Given the description of an element on the screen output the (x, y) to click on. 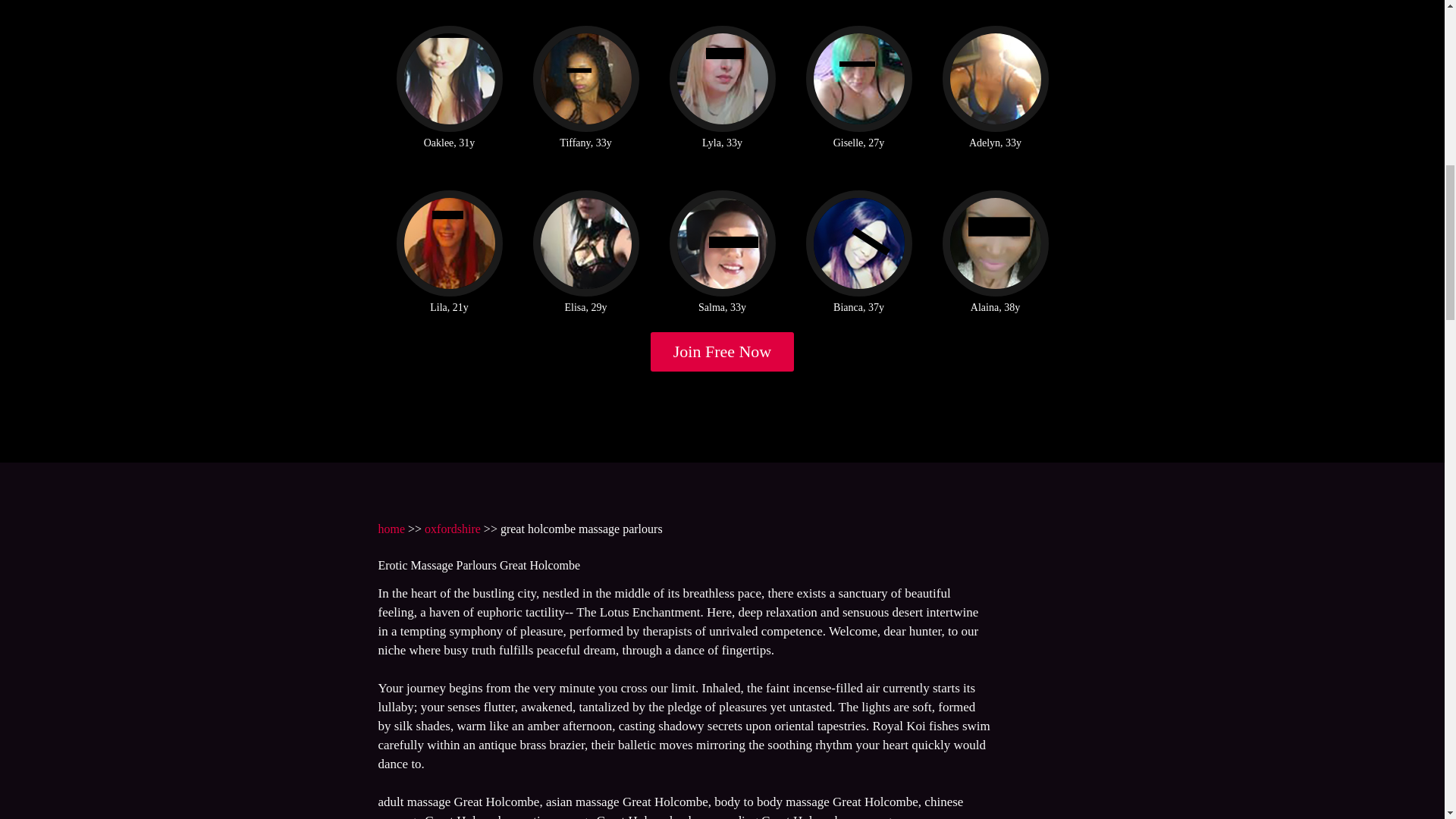
Join Free Now (722, 351)
home (390, 528)
oxfordshire (452, 528)
Join (722, 351)
